Given the description of an element on the screen output the (x, y) to click on. 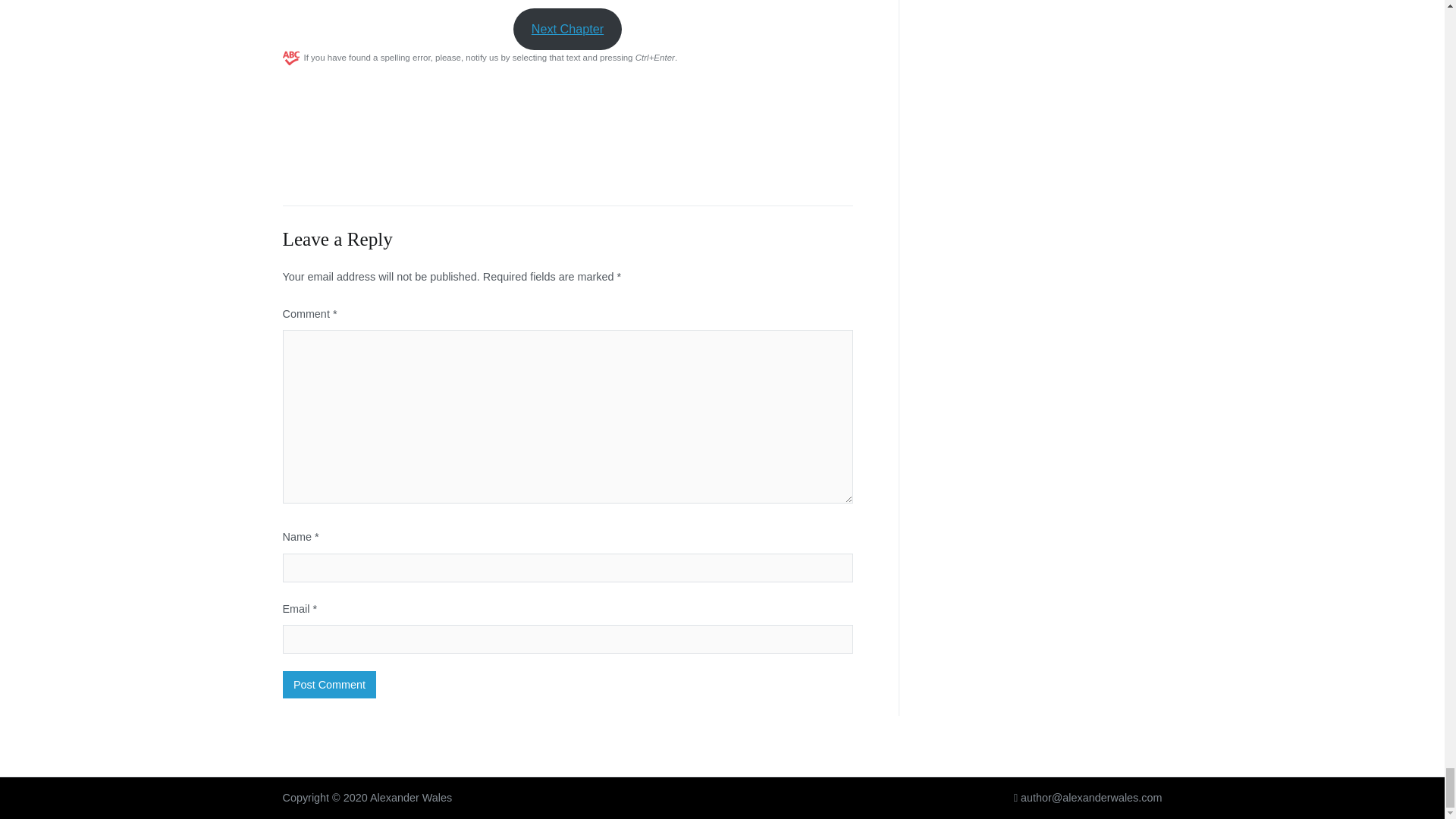
Alexander Wales (410, 797)
Post Comment (328, 684)
Post Comment (328, 684)
Alexander Wales (410, 797)
Next Chapter (567, 28)
